Given the description of an element on the screen output the (x, y) to click on. 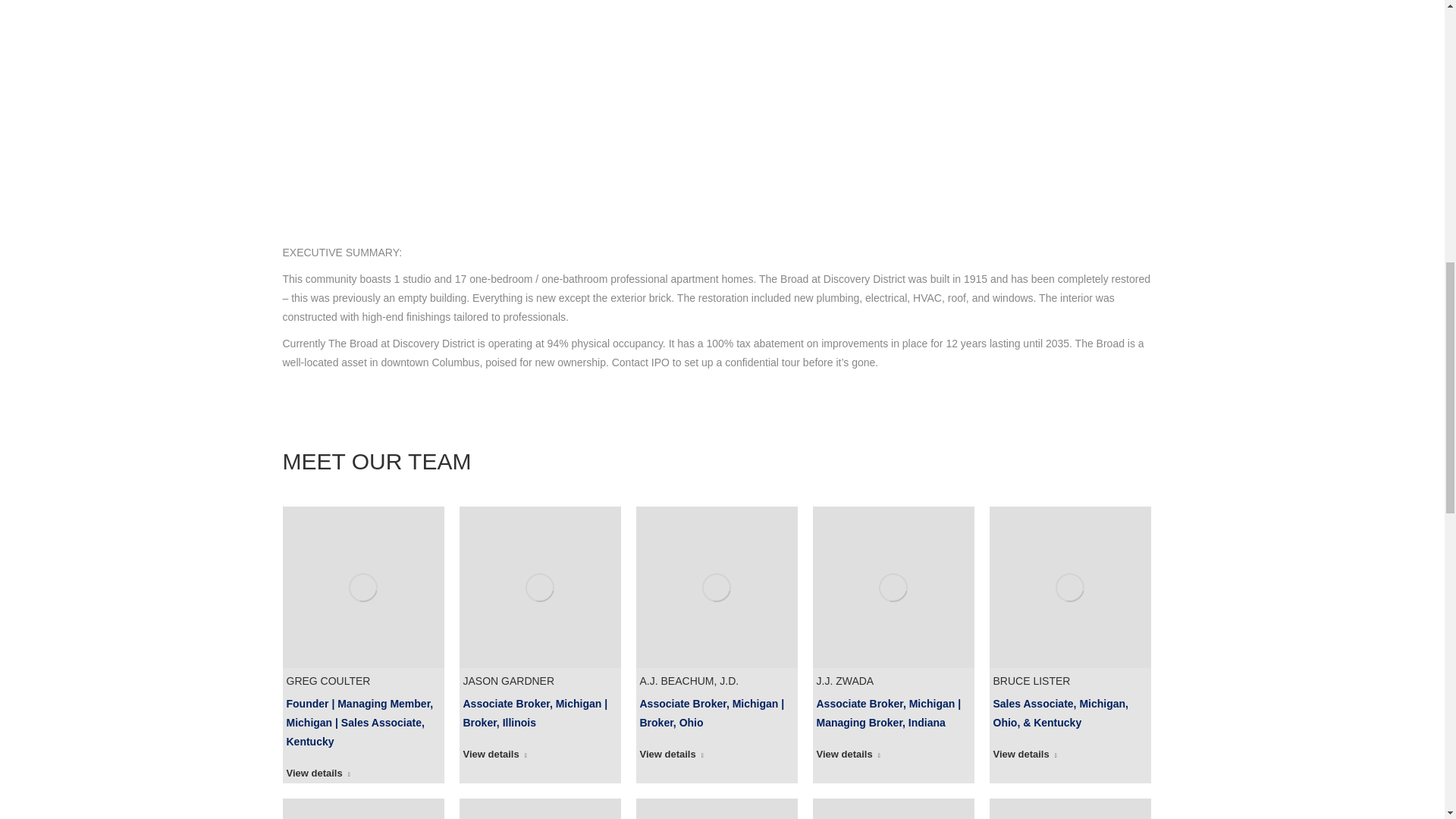
View details (318, 775)
GREG COULTER (328, 680)
